Given the description of an element on the screen output the (x, y) to click on. 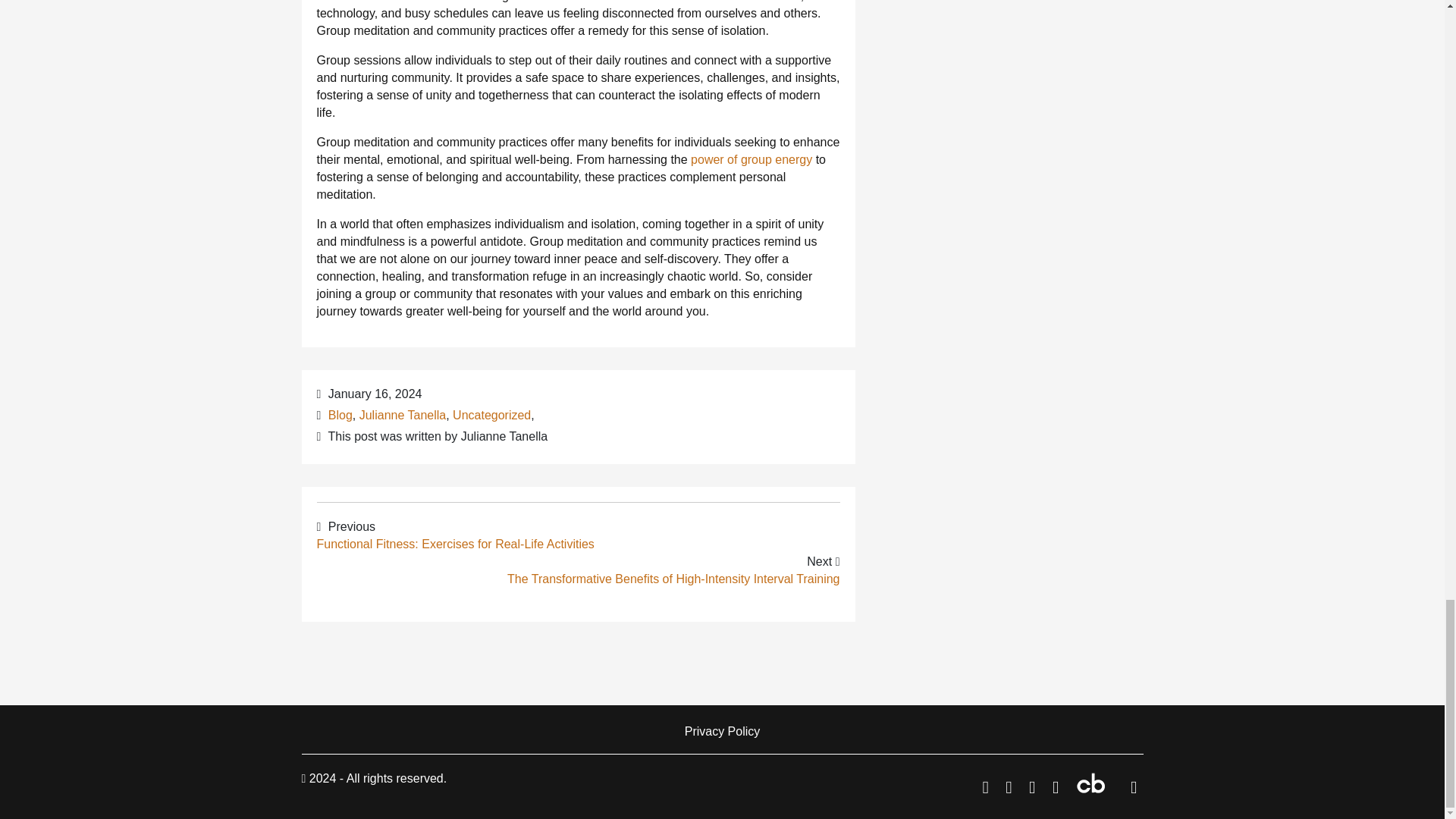
Blog (340, 414)
Functional Fitness: Exercises for Real-Life Activities (455, 543)
Uncategorized (491, 414)
Privacy Policy (722, 731)
Julianne Tanella (402, 414)
power of group energy (751, 159)
